Given the description of an element on the screen output the (x, y) to click on. 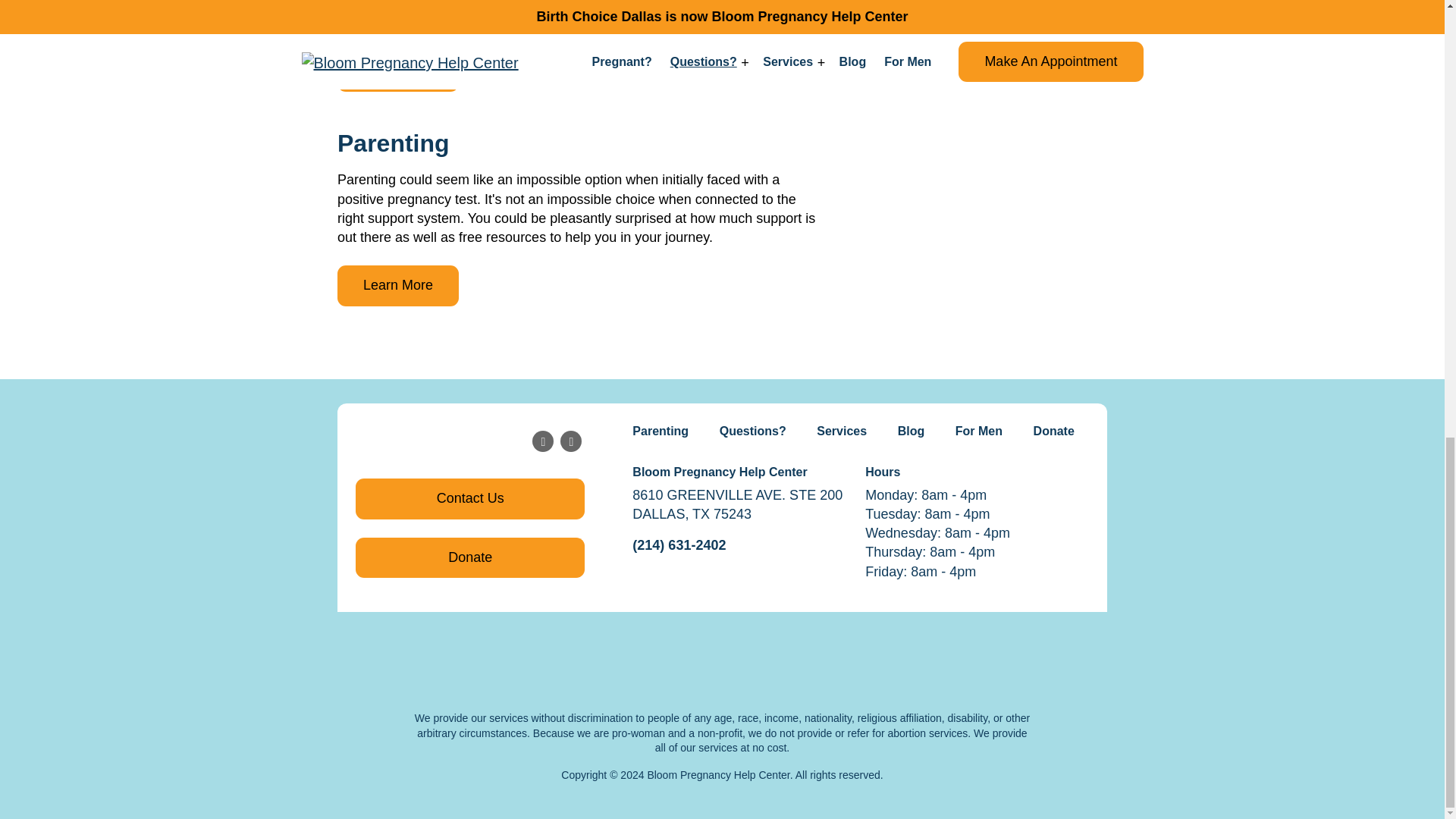
Donate (470, 557)
Donate (1053, 430)
Services (841, 430)
Blog (910, 430)
Get Answers (998, 12)
For Men (978, 430)
Contact Us (470, 498)
map (721, 649)
Learn More (397, 71)
Parenting (660, 430)
